Given the description of an element on the screen output the (x, y) to click on. 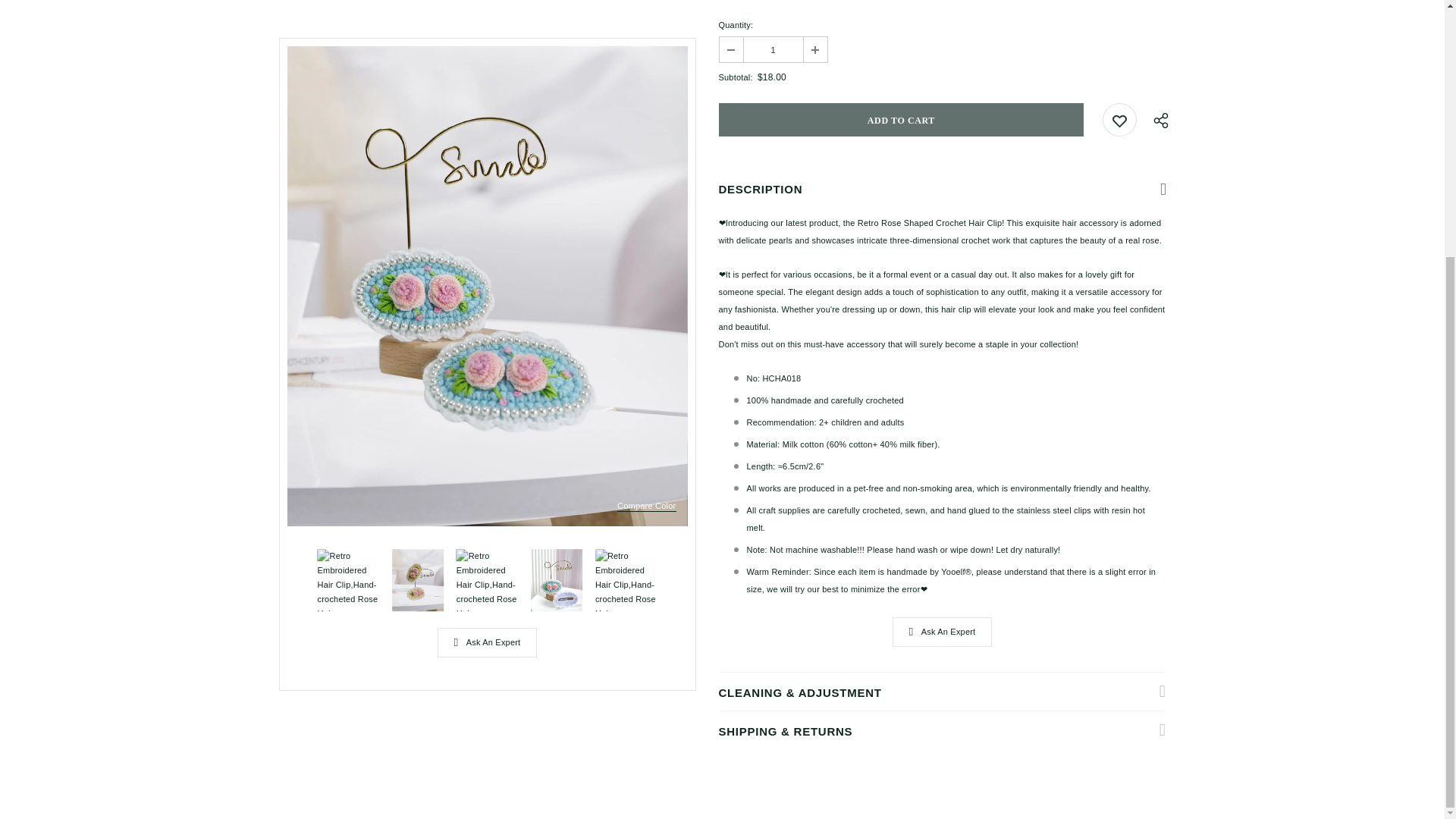
Add to cart (901, 119)
1 (772, 49)
